Given the description of an element on the screen output the (x, y) to click on. 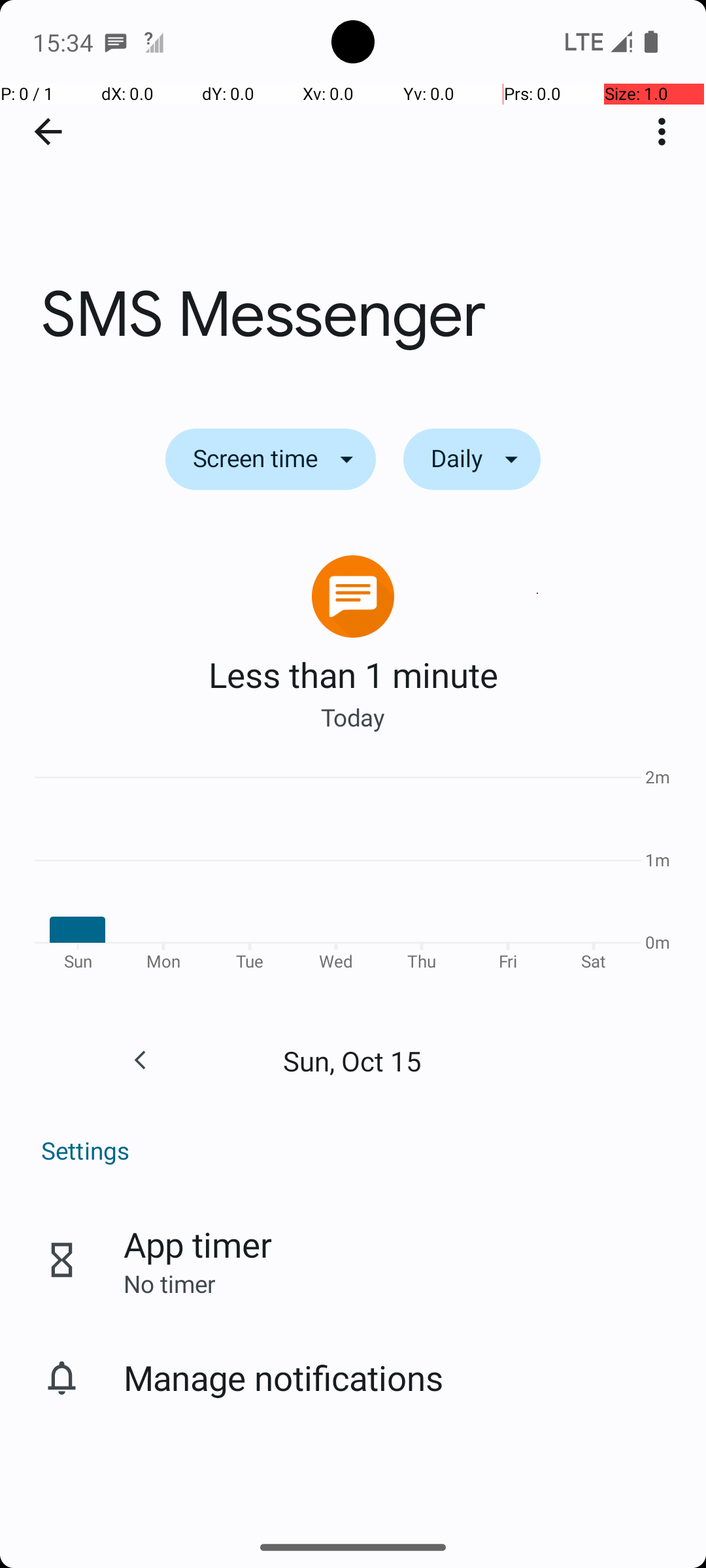
Less than 1 minute Element type: android.widget.TextView (353, 674)
Go to the previous day Element type: android.widget.Button (139, 1060)
App timer Element type: android.widget.TextView (197, 1244)
No timer Element type: android.widget.TextView (169, 1283)
Manage notifications Element type: android.widget.TextView (283, 1377)
